Given the description of an element on the screen output the (x, y) to click on. 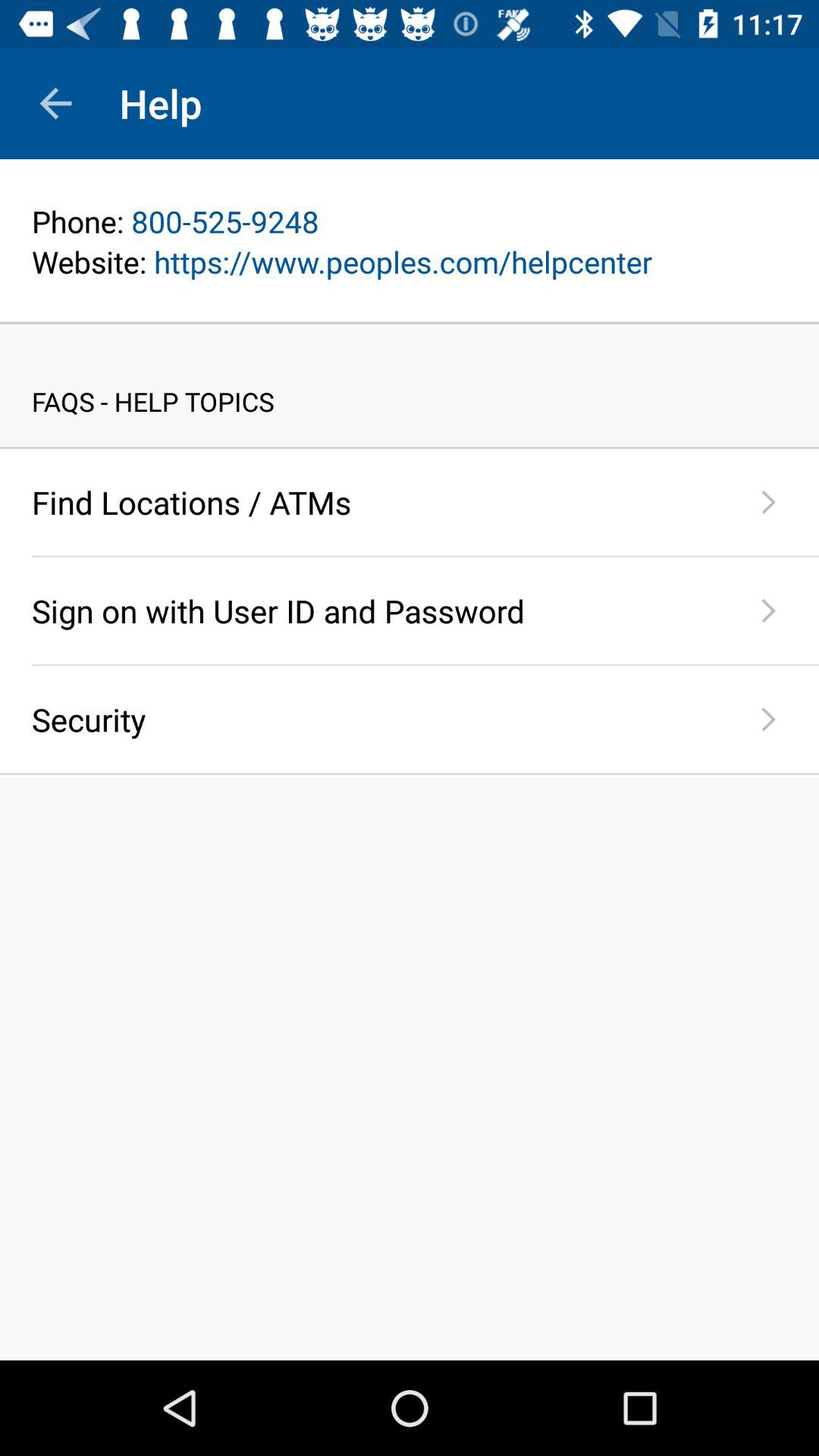
select phone 800 525 app (409, 221)
